Given the description of an element on the screen output the (x, y) to click on. 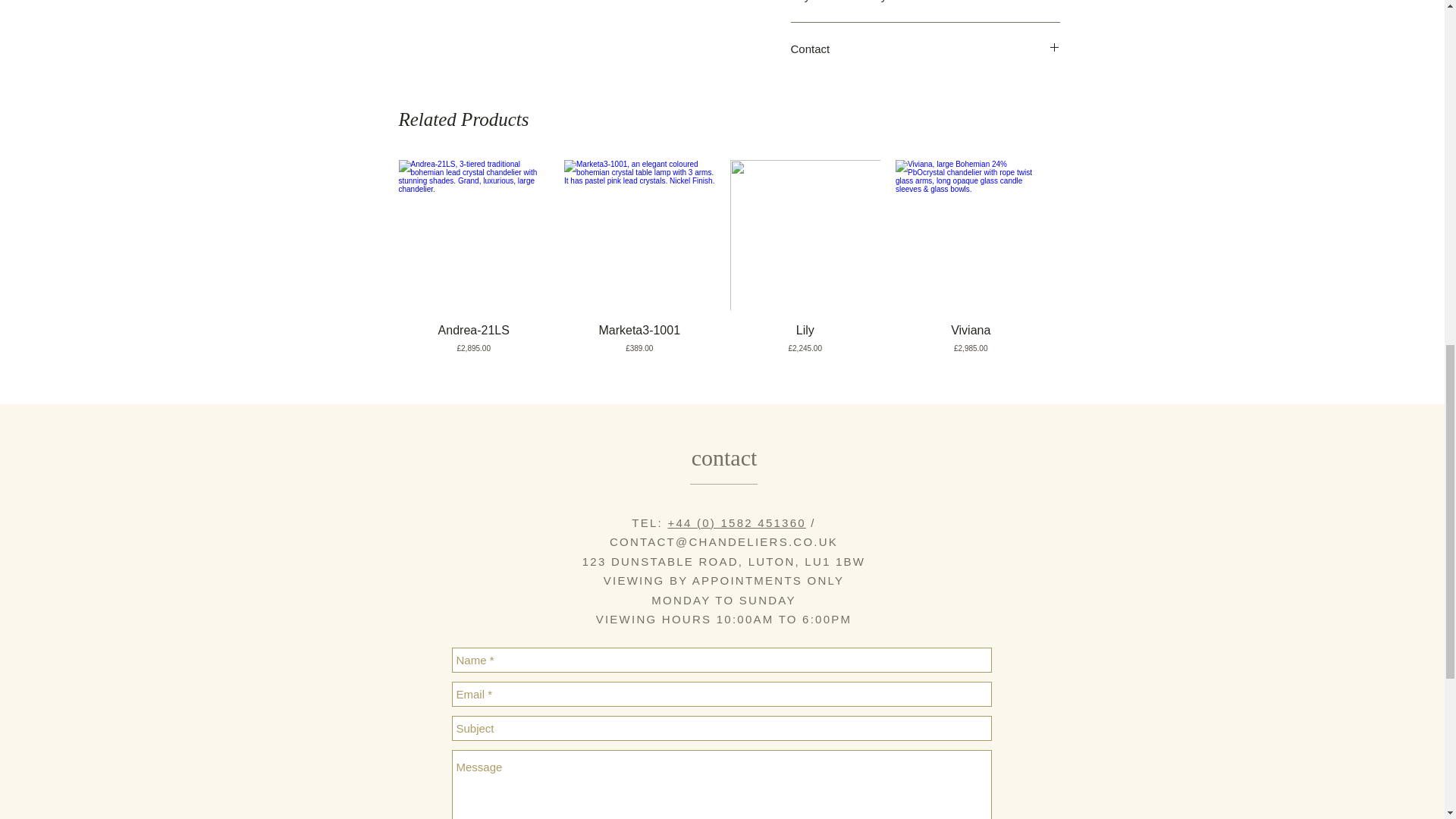
Payment - Delivery (924, 2)
Contact (924, 48)
